Given the description of an element on the screen output the (x, y) to click on. 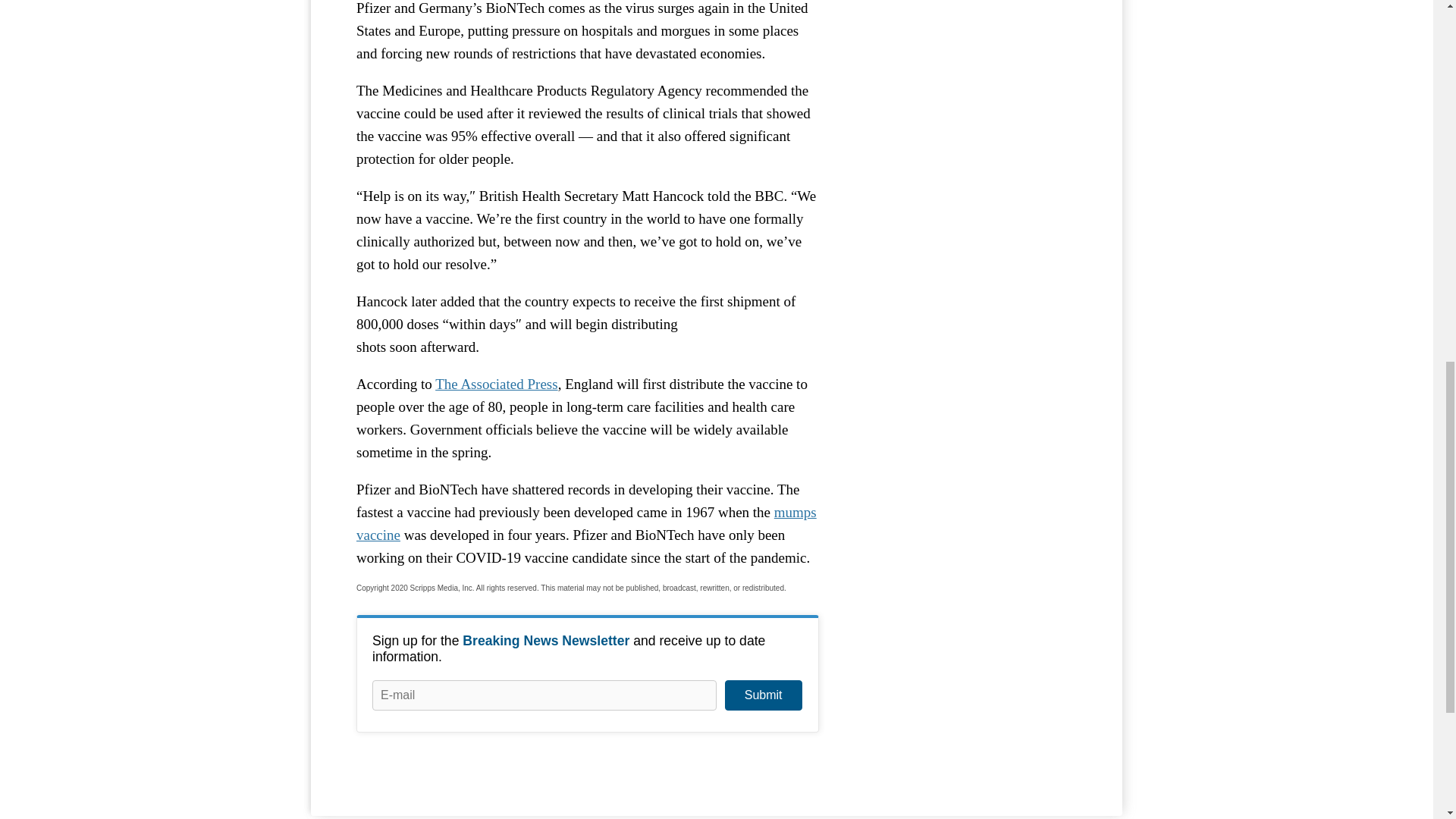
Submit (763, 695)
